Given the description of an element on the screen output the (x, y) to click on. 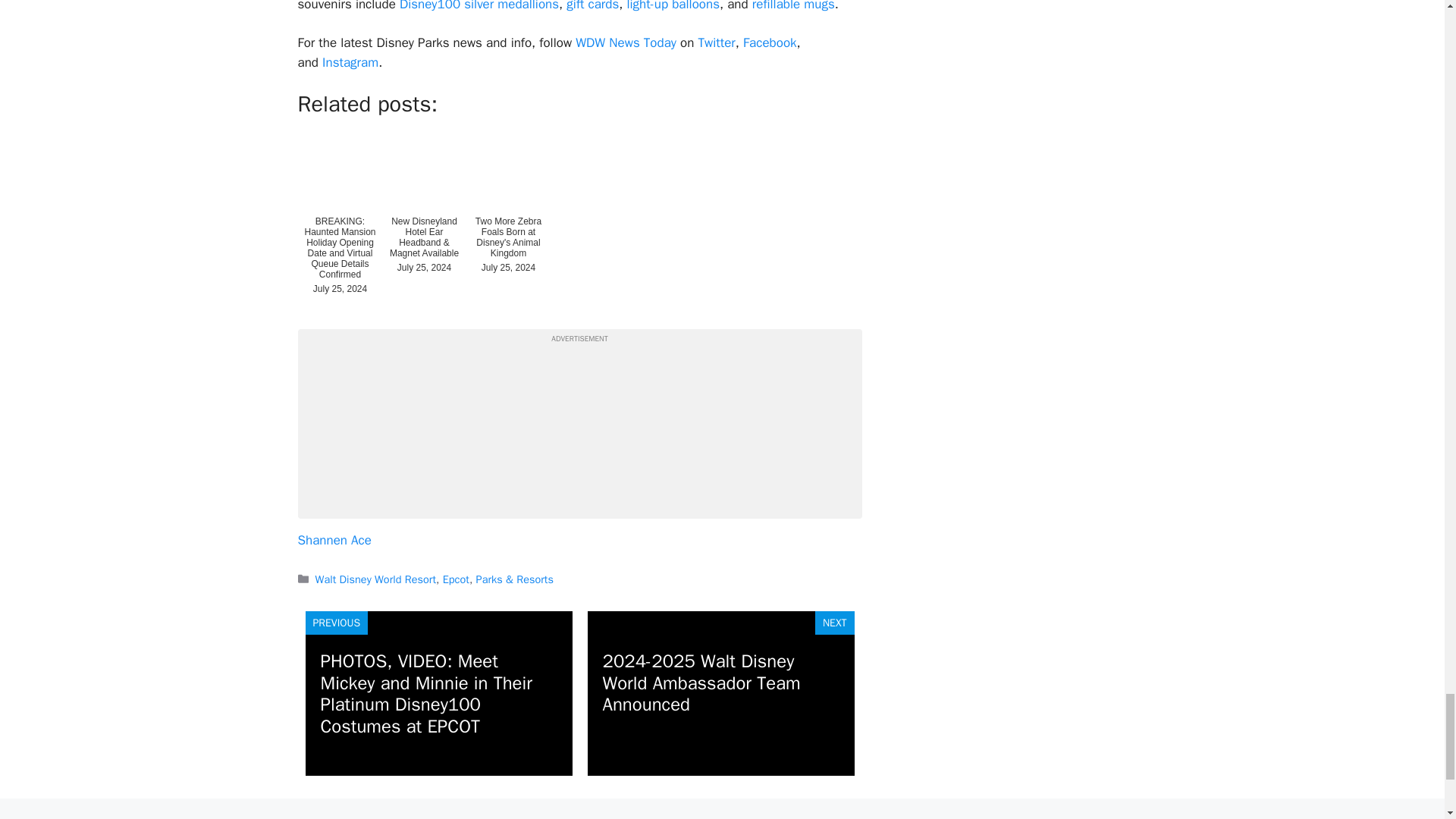
Shannen Ace (334, 273)
